Given the description of an element on the screen output the (x, y) to click on. 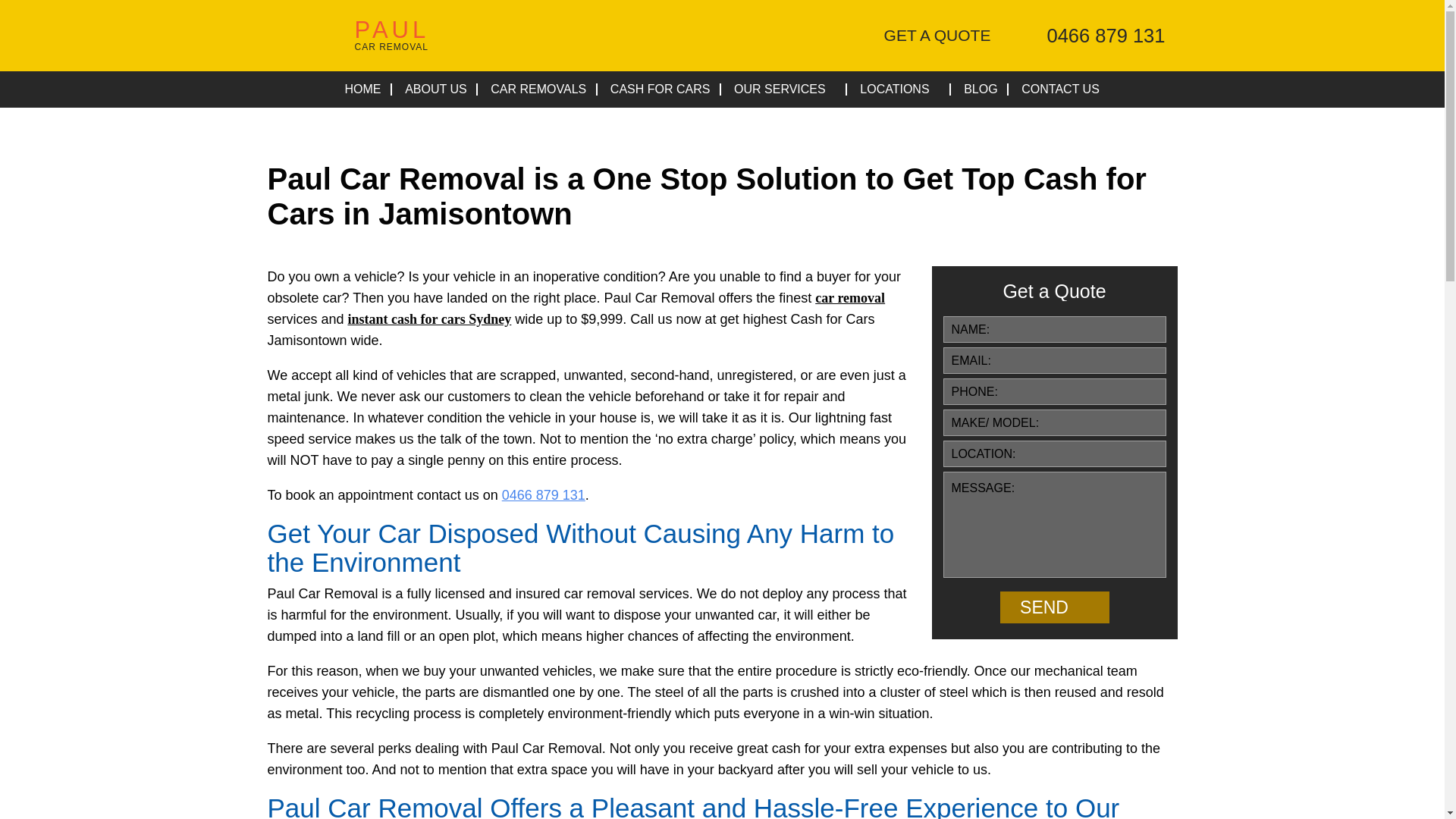
OUR SERVICES (784, 89)
0466 879 131 (1096, 39)
Send (1053, 607)
CAR REMOVALS (537, 89)
Paul Car Removal Sydney  (348, 38)
0466 879 131 (348, 38)
Get a Quote (1096, 39)
LOCATIONS (929, 35)
Cash For Cars (899, 89)
About Us (659, 89)
GET A QUOTE (435, 89)
Car Removals (929, 35)
CASH FOR CARS (537, 89)
HOME (659, 89)
